Given the description of an element on the screen output the (x, y) to click on. 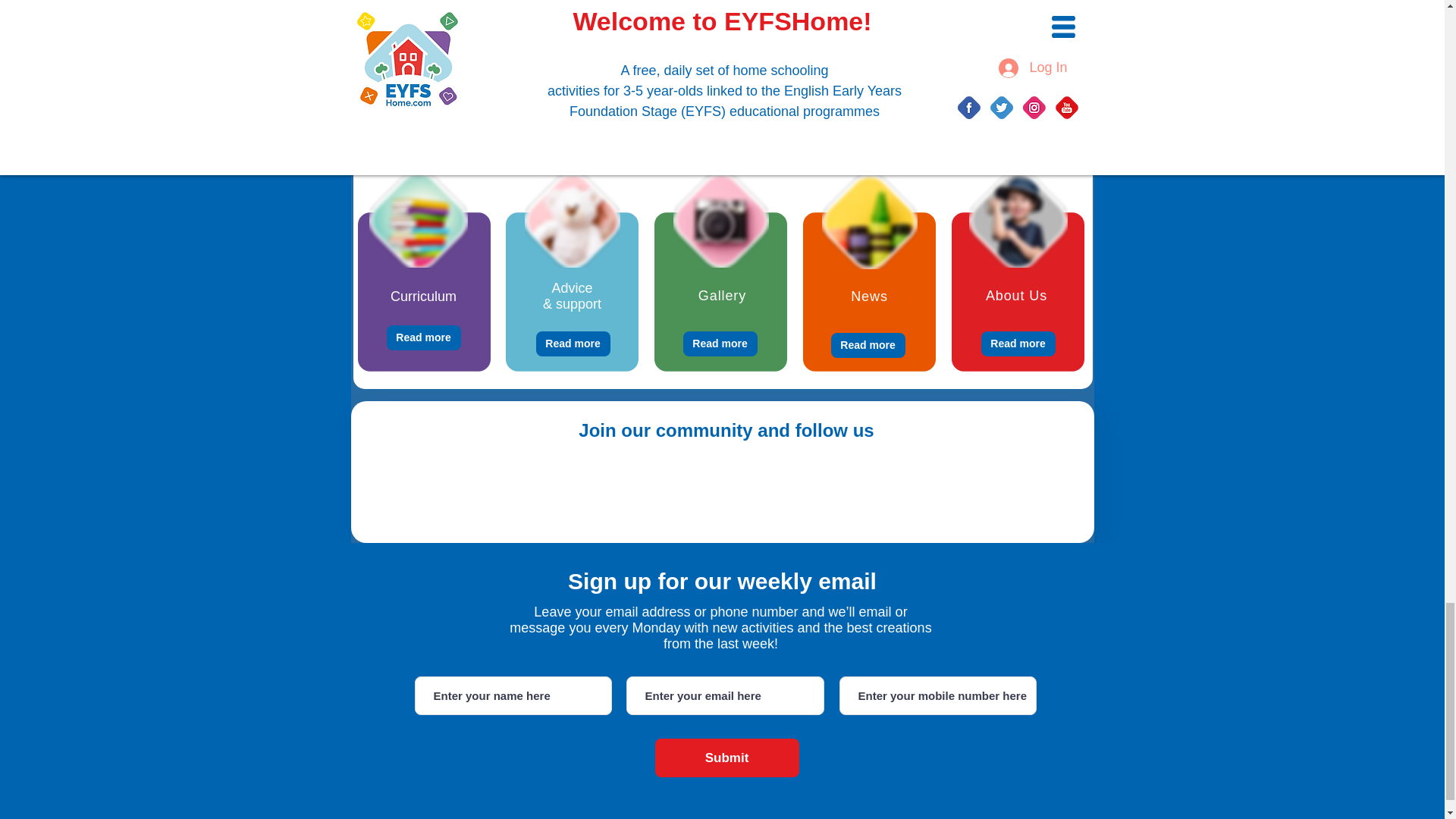
Read more (424, 337)
Read more (1018, 343)
Read more (572, 343)
Read more (868, 344)
Submit (727, 757)
Read more (719, 343)
